Given the description of an element on the screen output the (x, y) to click on. 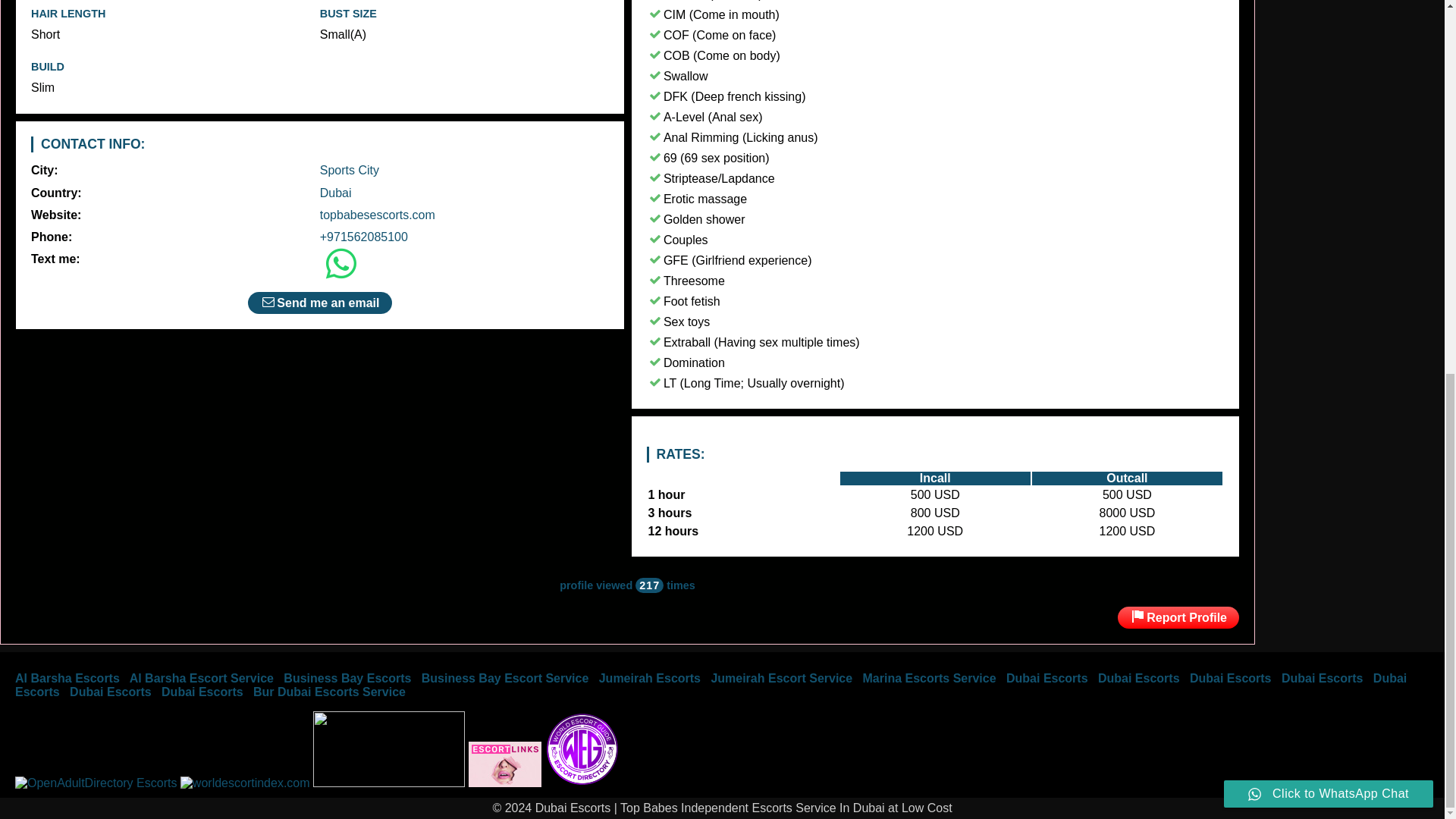
Dubai Escorts (582, 782)
worldescortindex.com (245, 782)
Dubai Escorts (1138, 677)
Dubai (336, 192)
Escortdude.com (388, 782)
Dubai Escorts (710, 684)
Dubai Escorts (110, 691)
Sports City (349, 169)
Bur Dubai Escorts Service (329, 691)
Dubai Escorts (1046, 677)
